Given the description of an element on the screen output the (x, y) to click on. 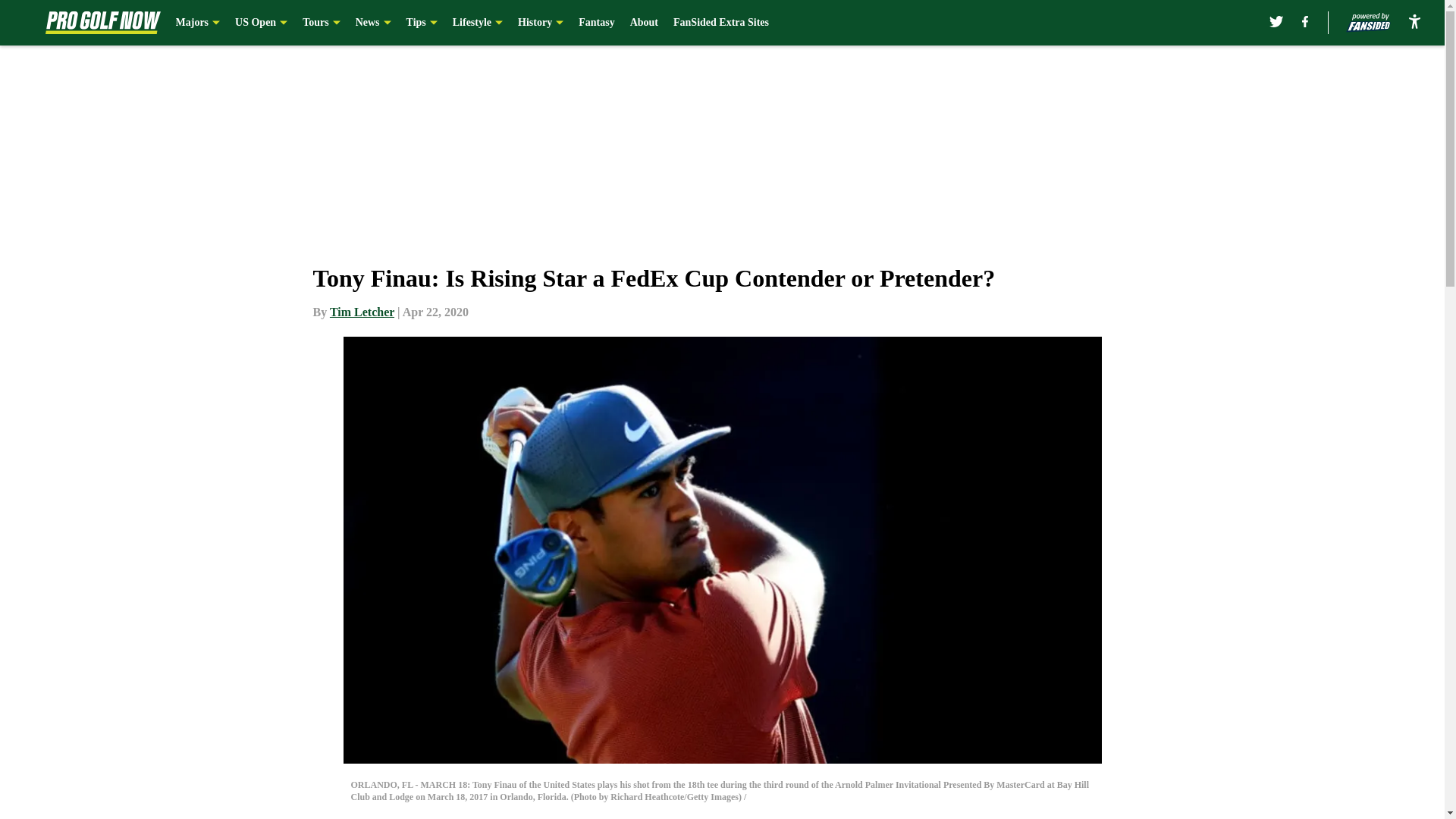
Fantasy (596, 22)
About (644, 22)
FanSided Extra Sites (720, 22)
Tim Letcher (362, 311)
